Given the description of an element on the screen output the (x, y) to click on. 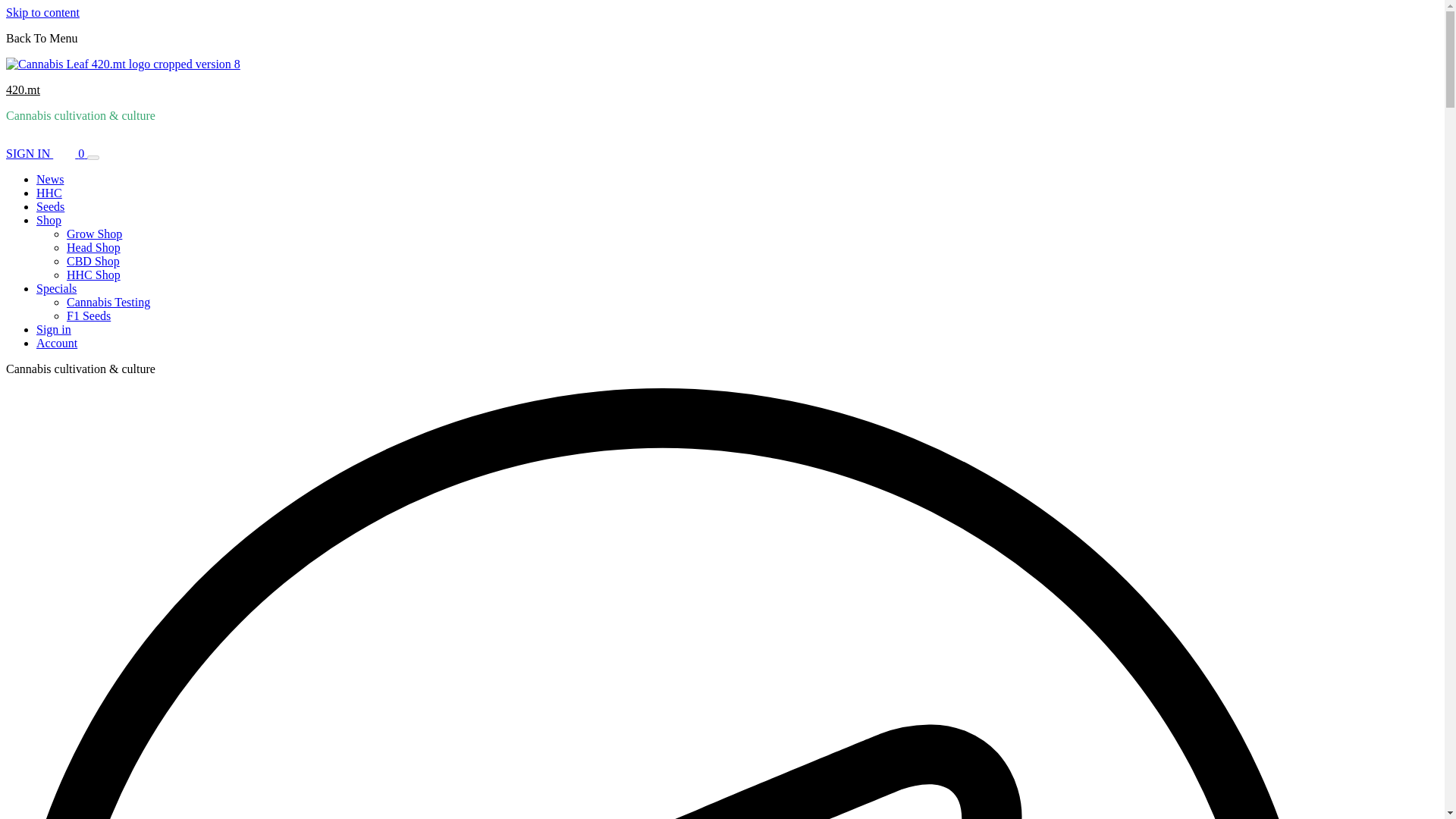
Specials (60, 287)
Head Shop (93, 246)
CBD Shop (92, 260)
420.mt (22, 89)
Shop (52, 219)
Seeds (50, 205)
Cannabis Testing (107, 301)
SIGN IN (28, 153)
News (50, 178)
Grow Shop (94, 233)
F1 Seeds (88, 315)
Sign in (53, 328)
HHC (49, 192)
HHC Shop (93, 274)
Skip to content (42, 11)
